Given the description of an element on the screen output the (x, y) to click on. 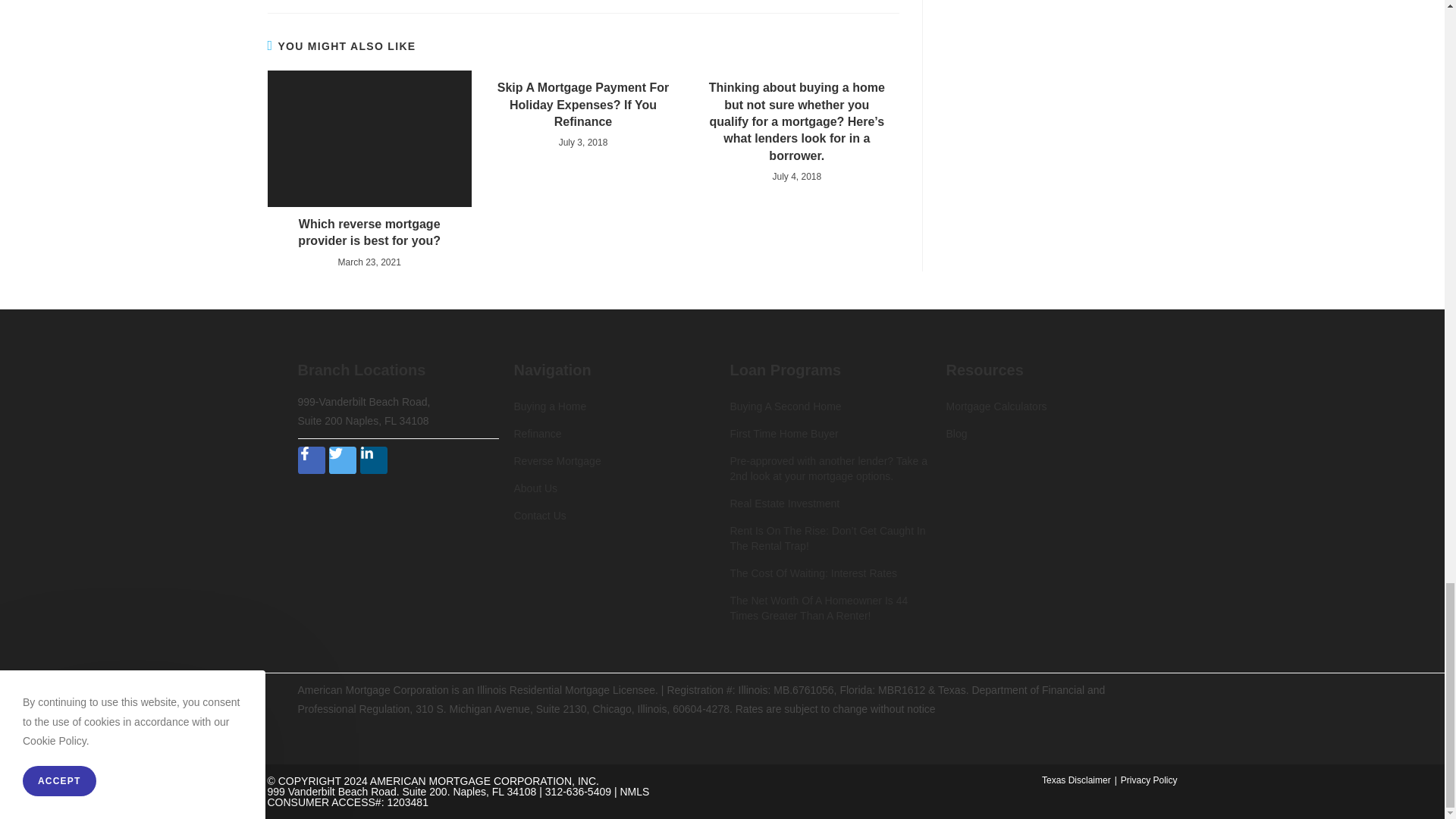
DMCA.com Protection Status (397, 599)
Which reverse mortgage provider is best for you? (368, 233)
